Given the description of an element on the screen output the (x, y) to click on. 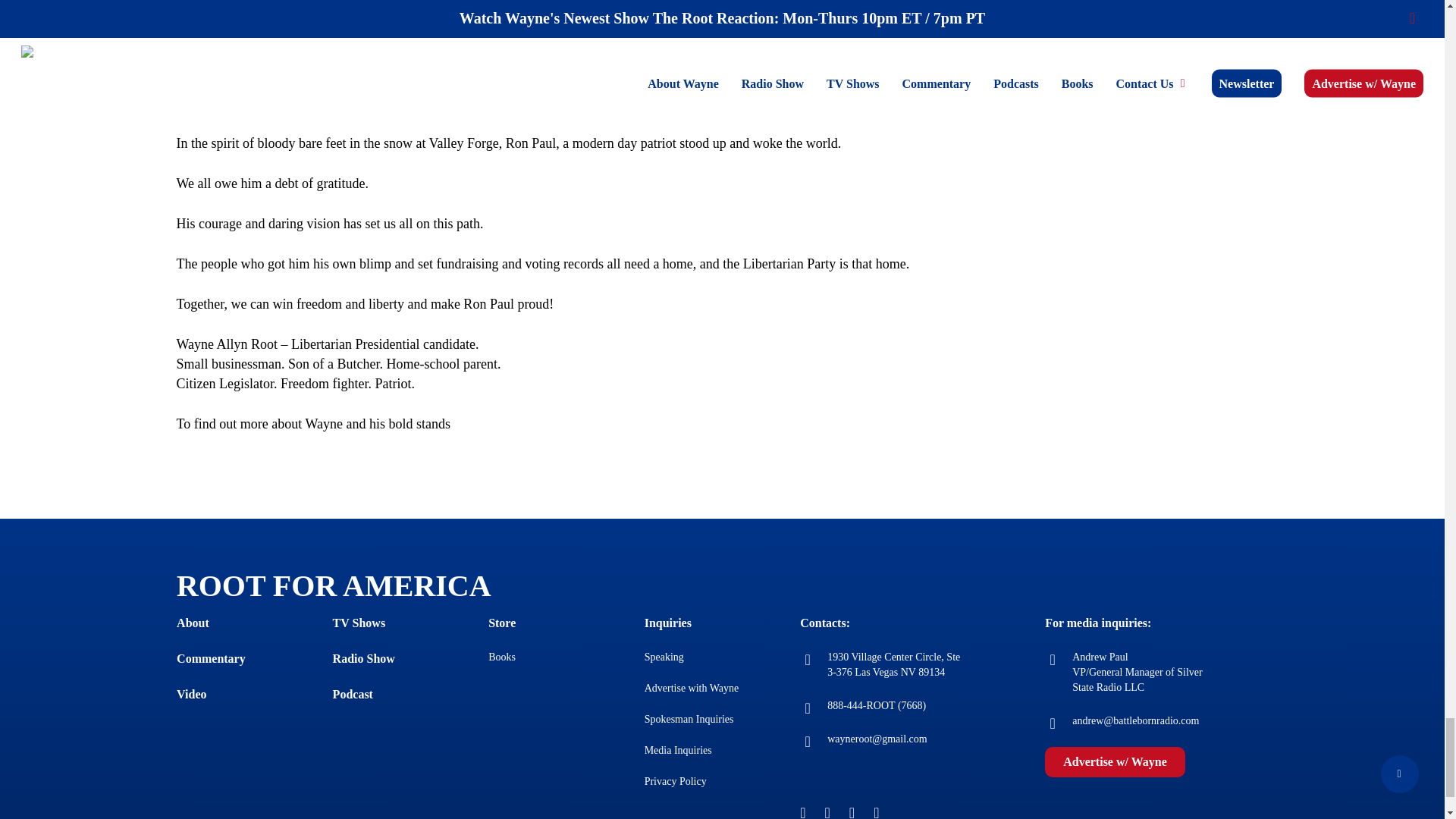
Speaking (664, 656)
Advertise with Wayne (692, 687)
Radio Show (363, 658)
Video (191, 694)
Media Inquiries (678, 749)
Advertise with Wayne (692, 687)
TV Shows (359, 622)
Spokesman Inquiries (689, 718)
Commentary (211, 658)
Podcast (352, 694)
